Given the description of an element on the screen output the (x, y) to click on. 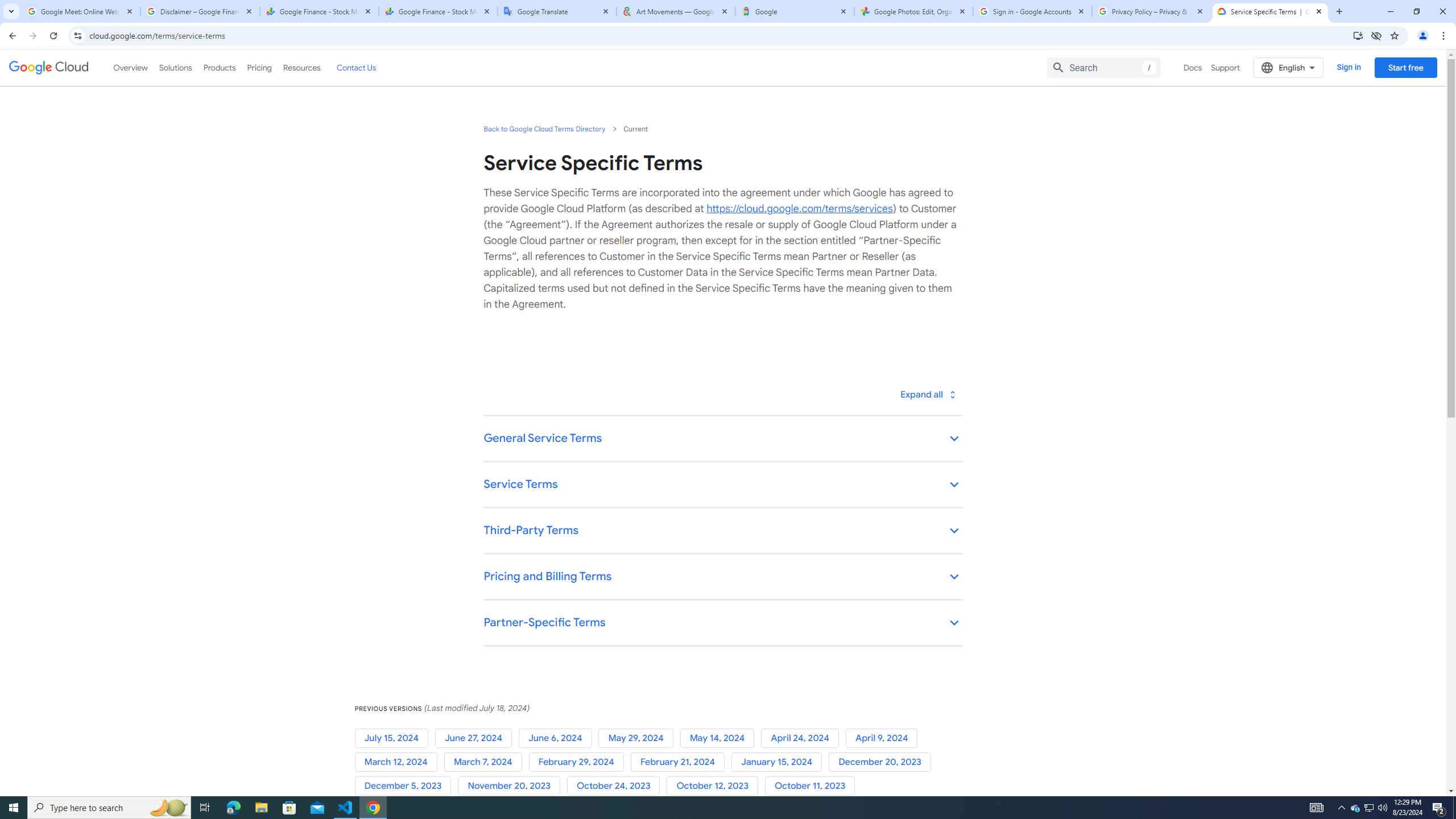
English (1288, 67)
January 15, 2024 (779, 761)
December 20, 2023 (882, 761)
Third-Party Terms keyboard_arrow_down (722, 531)
Pricing and Billing Terms keyboard_arrow_down (722, 577)
May 29, 2024 (638, 737)
November 20, 2023 (511, 786)
